Given the description of an element on the screen output the (x, y) to click on. 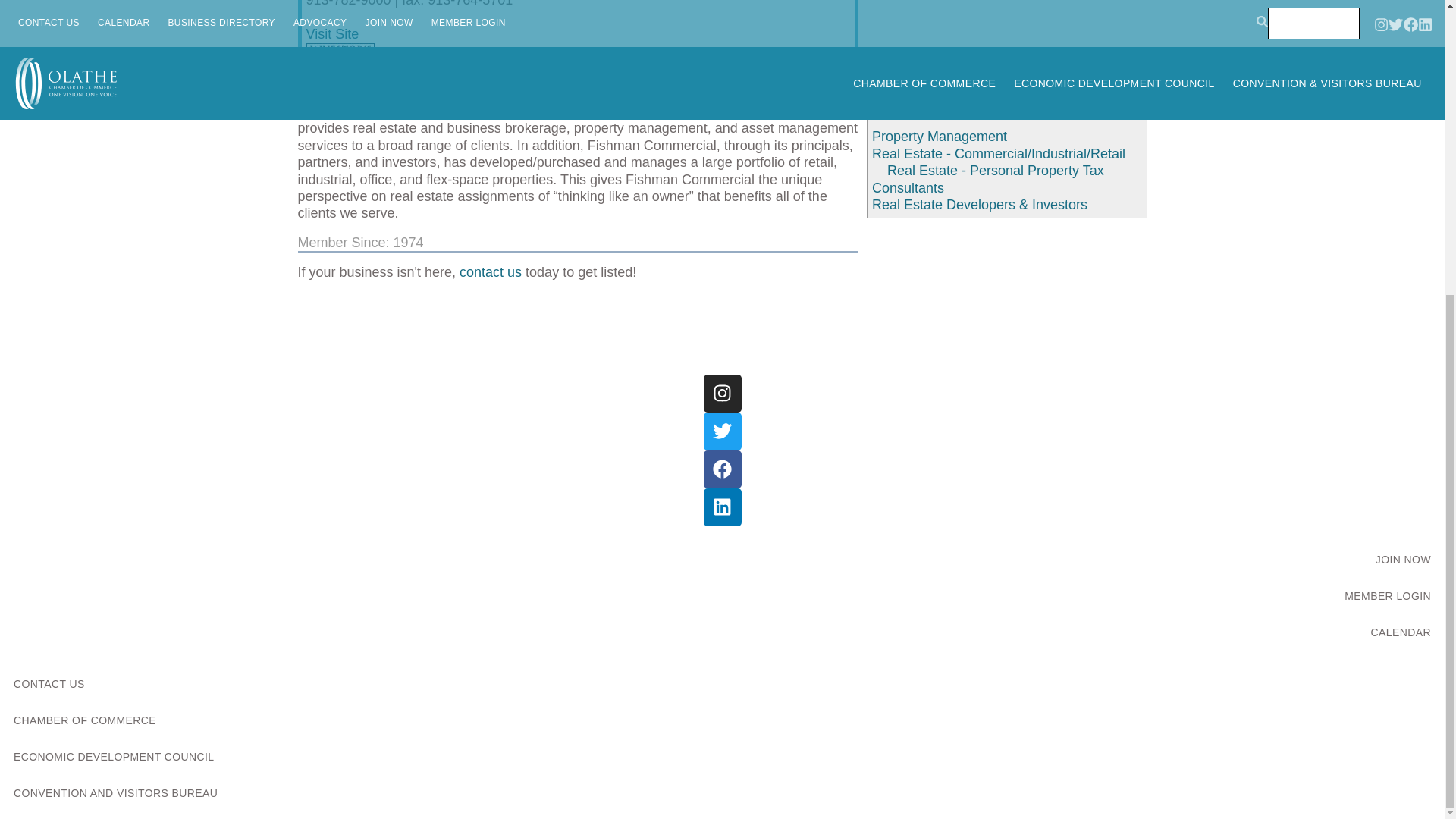
Investor's Guild Member (339, 54)
